Given the description of an element on the screen output the (x, y) to click on. 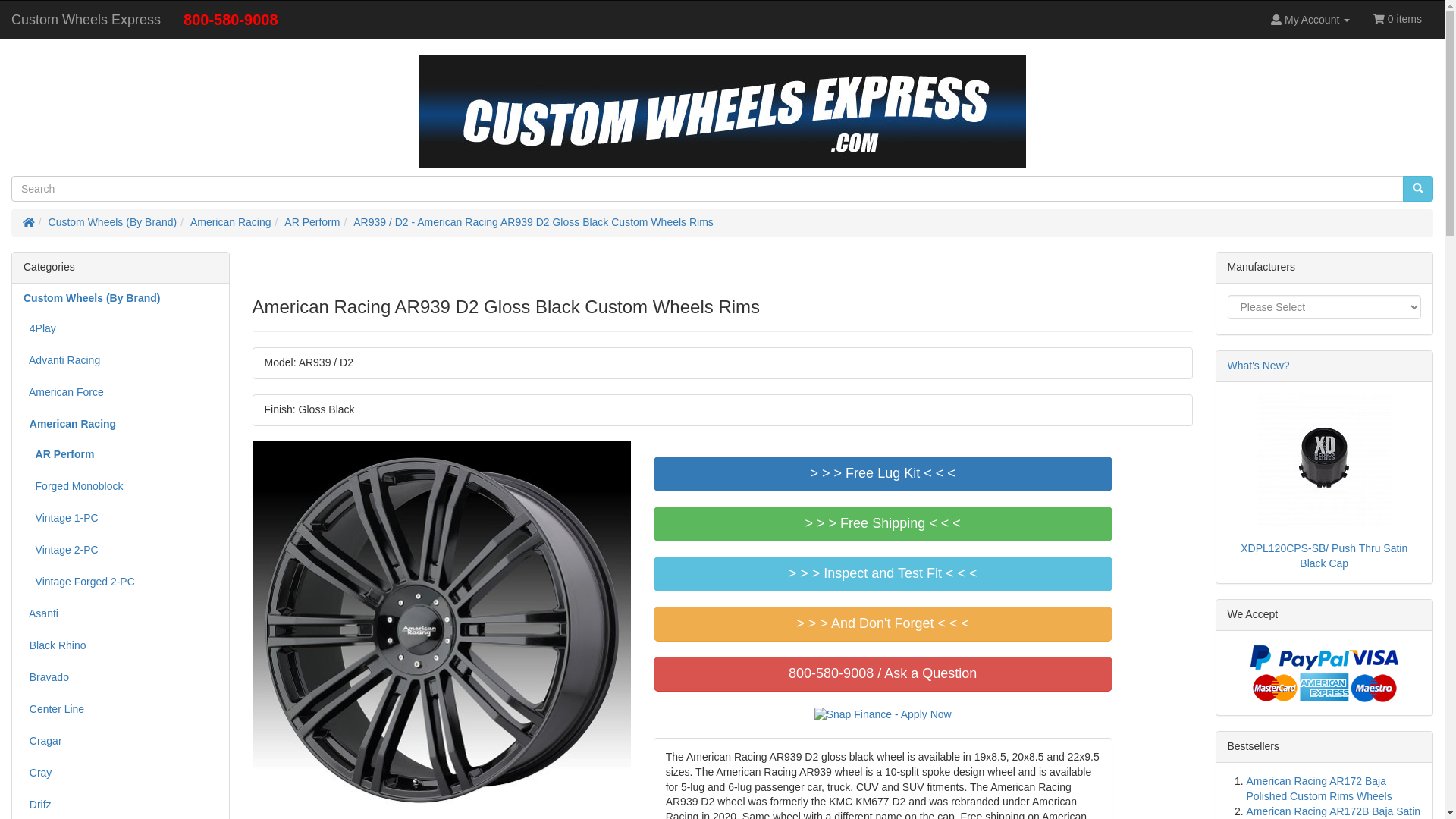
My Account (1310, 19)
AR Perform (311, 222)
Home (28, 222)
Custom Wheels Express (85, 19)
American Racing (230, 222)
Custom Wheels Express (722, 111)
